Given the description of an element on the screen output the (x, y) to click on. 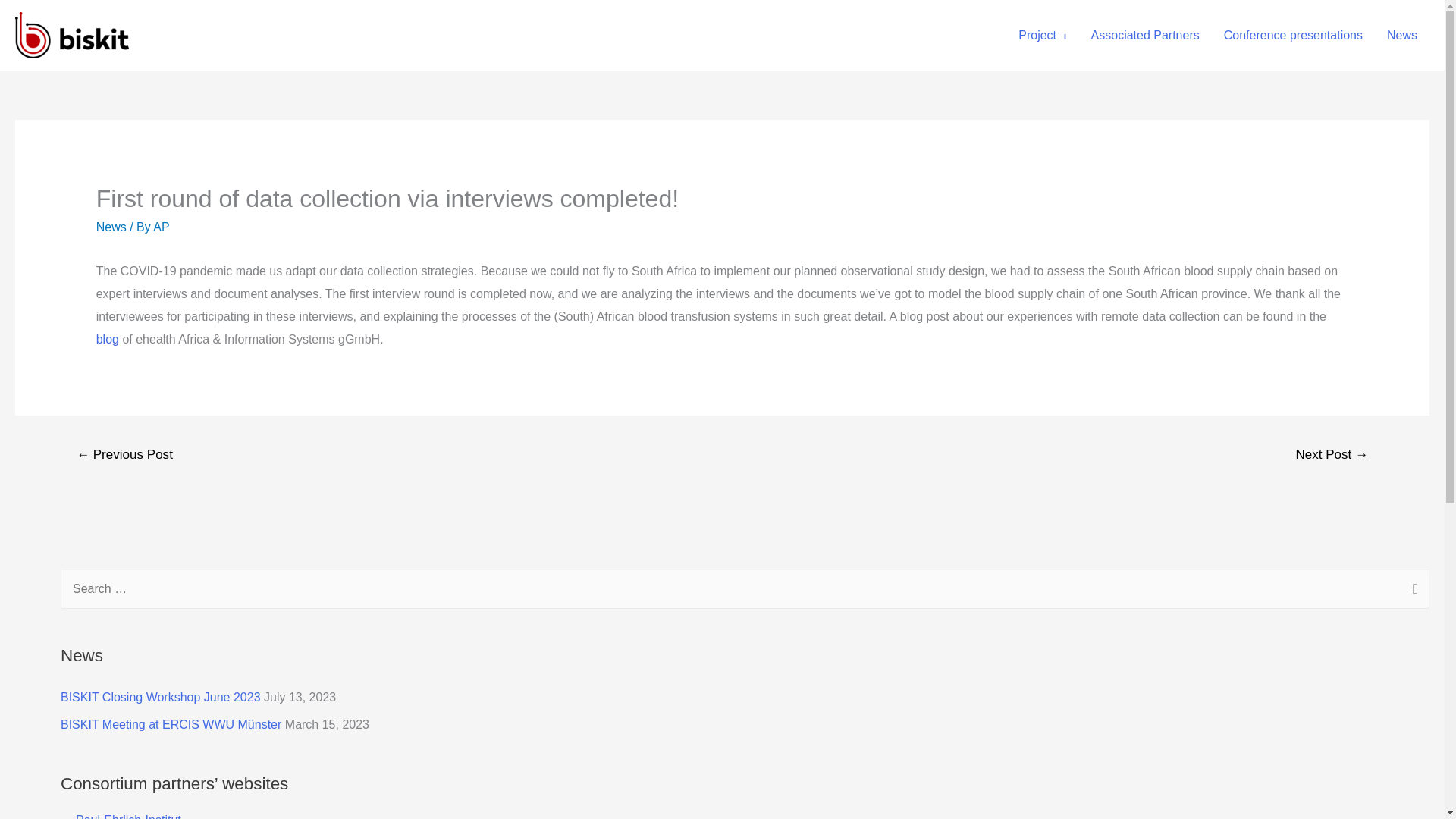
Conference presentations (1292, 35)
Project (1042, 35)
Associated Partners (1144, 35)
BISKIT Closing Workshop June 2023 (160, 697)
blog (109, 338)
AP (160, 226)
News (1401, 35)
Paul-Ehrlich-Institut (120, 816)
News (111, 226)
View all posts by AP (160, 226)
